Given the description of an element on the screen output the (x, y) to click on. 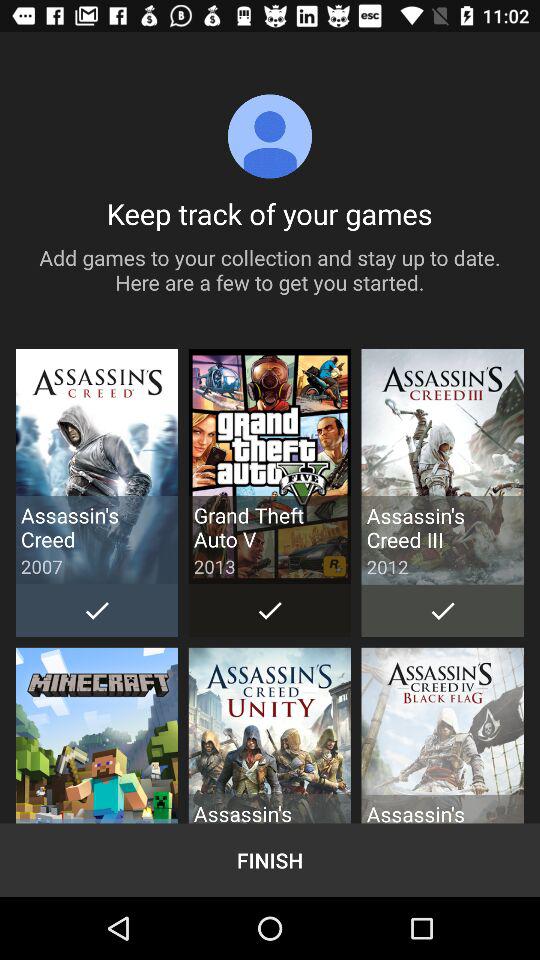
jump until finish item (270, 859)
